Given the description of an element on the screen output the (x, y) to click on. 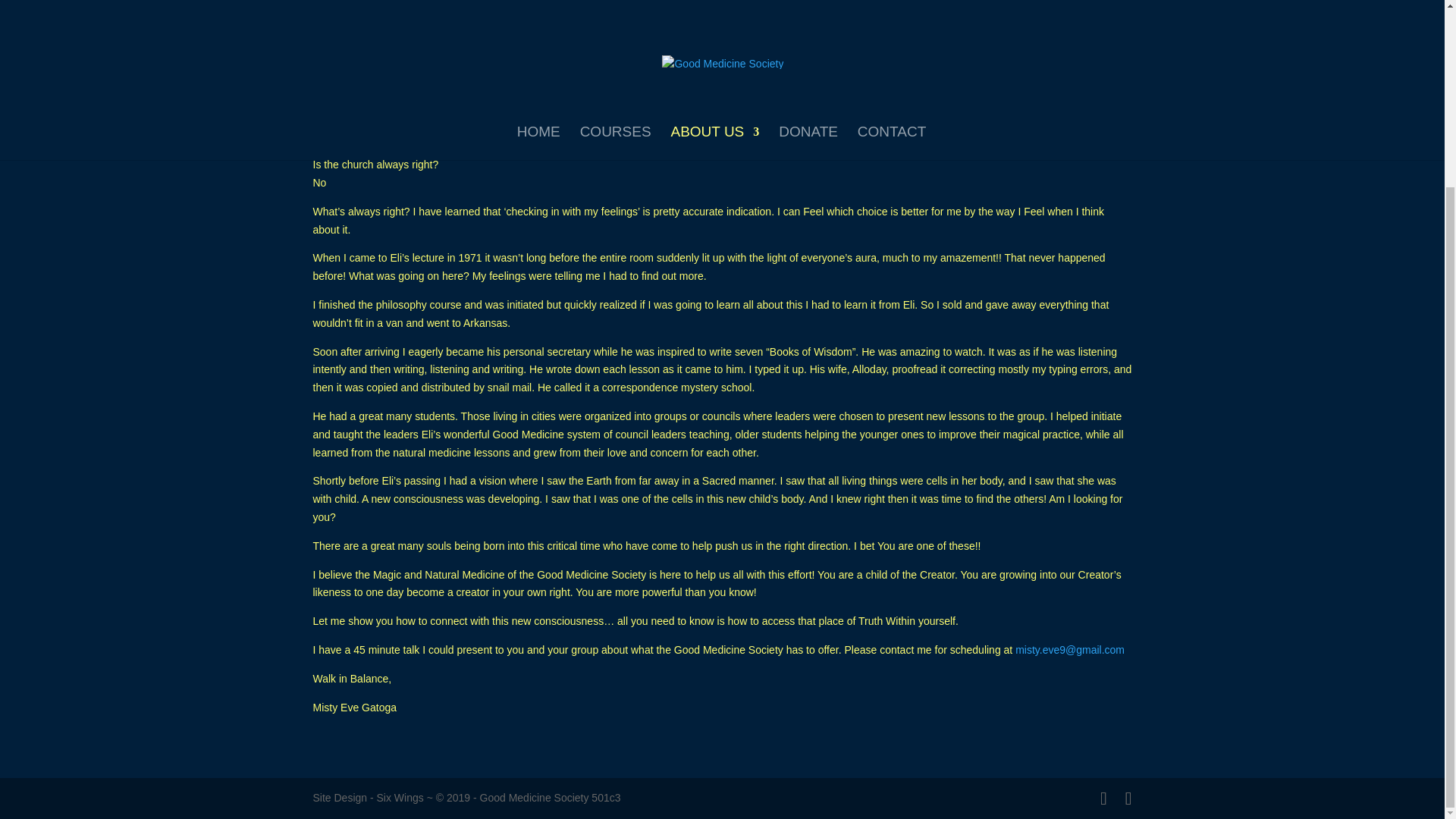
mail to (1069, 649)
